Given the description of an element on the screen output the (x, y) to click on. 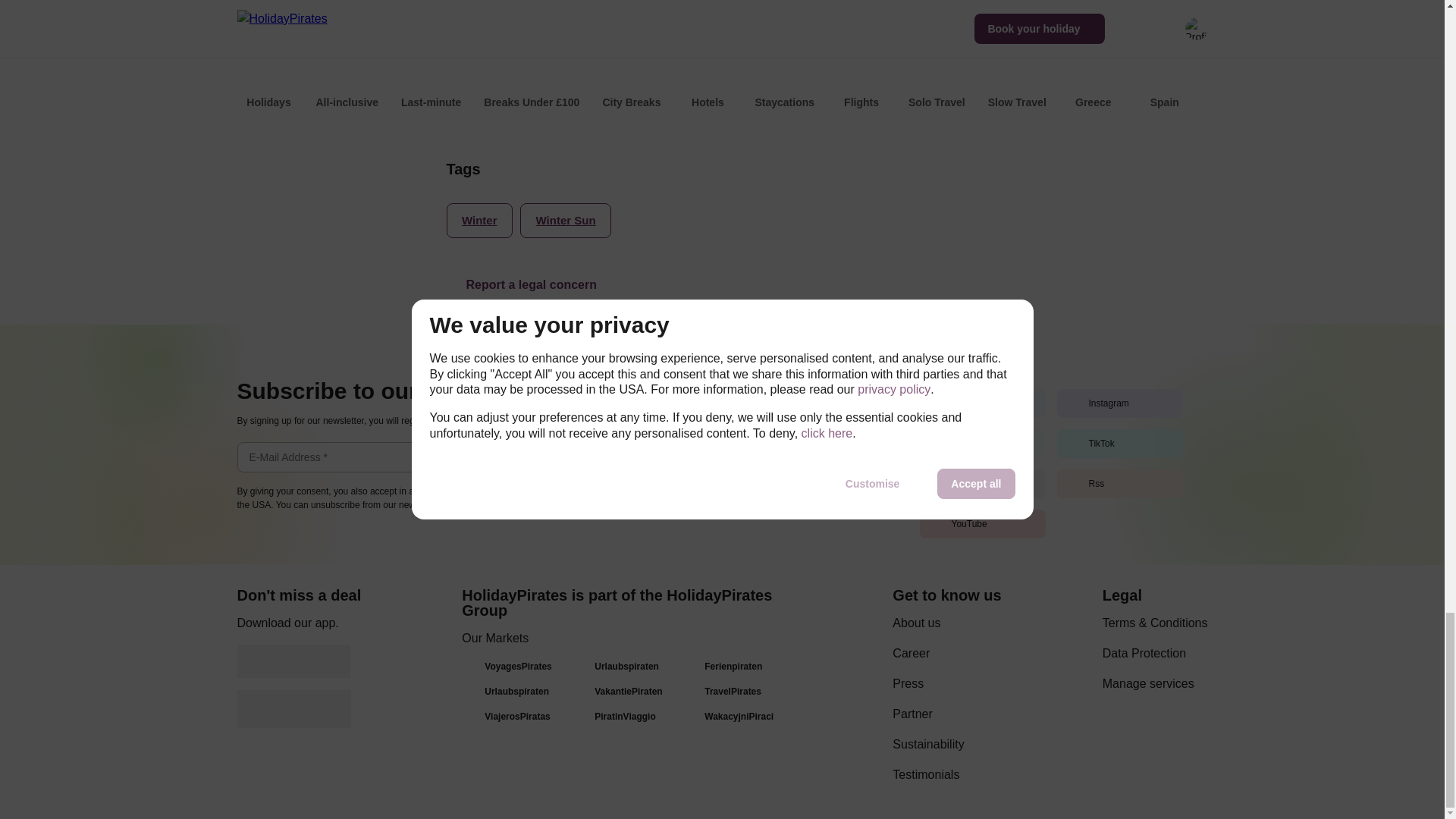
apple (292, 709)
Dubai (630, 68)
google (292, 661)
